Given the description of an element on the screen output the (x, y) to click on. 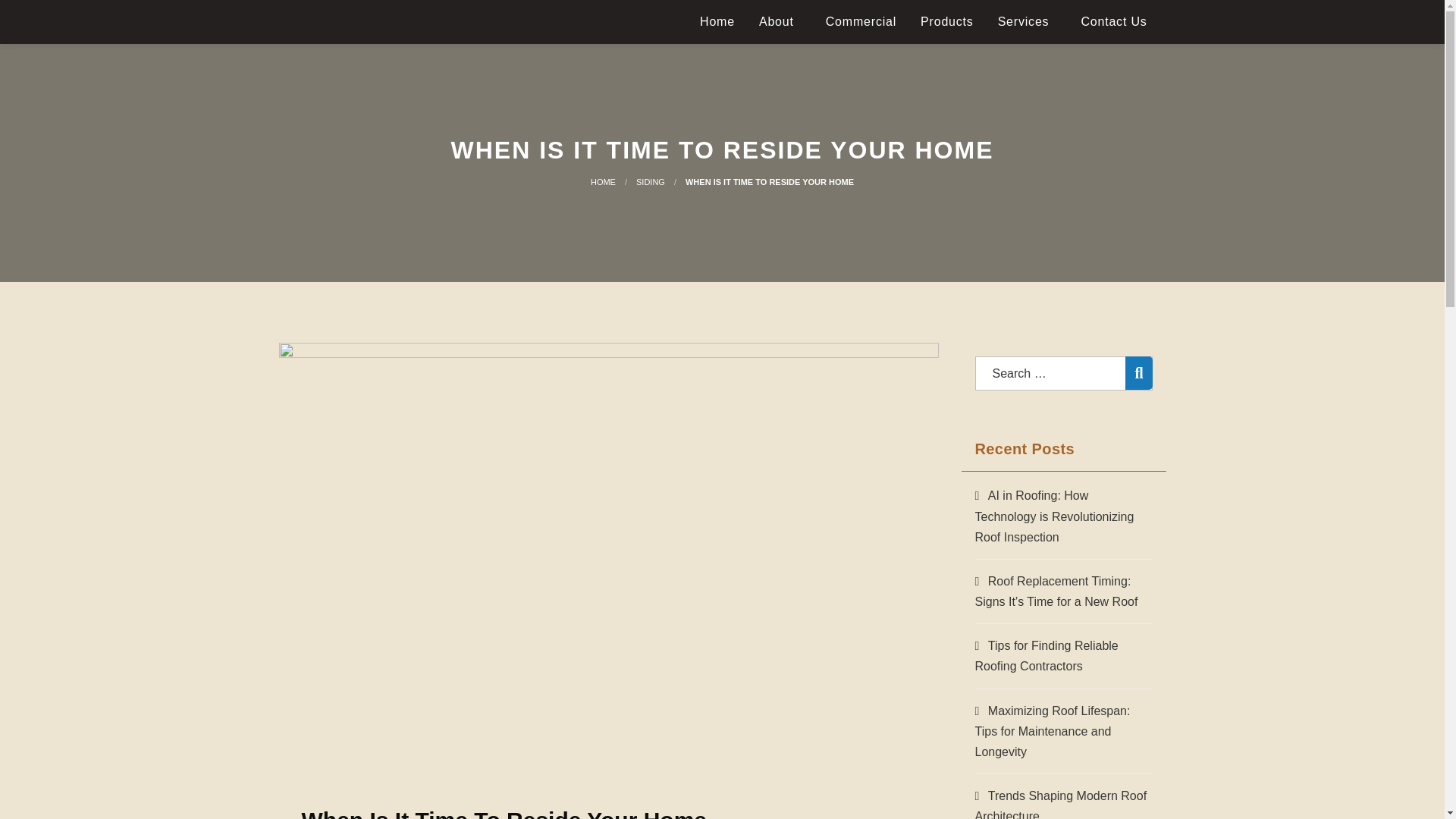
Maximizing Roof Lifespan: Tips for Maintenance and Longevity (1053, 731)
When Is It Time To Reside Your Home (769, 181)
Contact Us (1113, 21)
HOME (603, 182)
Products (946, 21)
Home (603, 182)
Search for: (1064, 373)
Services (1026, 21)
SIDING (650, 182)
Home (716, 21)
Tips for Finding Reliable Roofing Contractors  (1046, 655)
About (779, 21)
Commercial (860, 21)
